Given the description of an element on the screen output the (x, y) to click on. 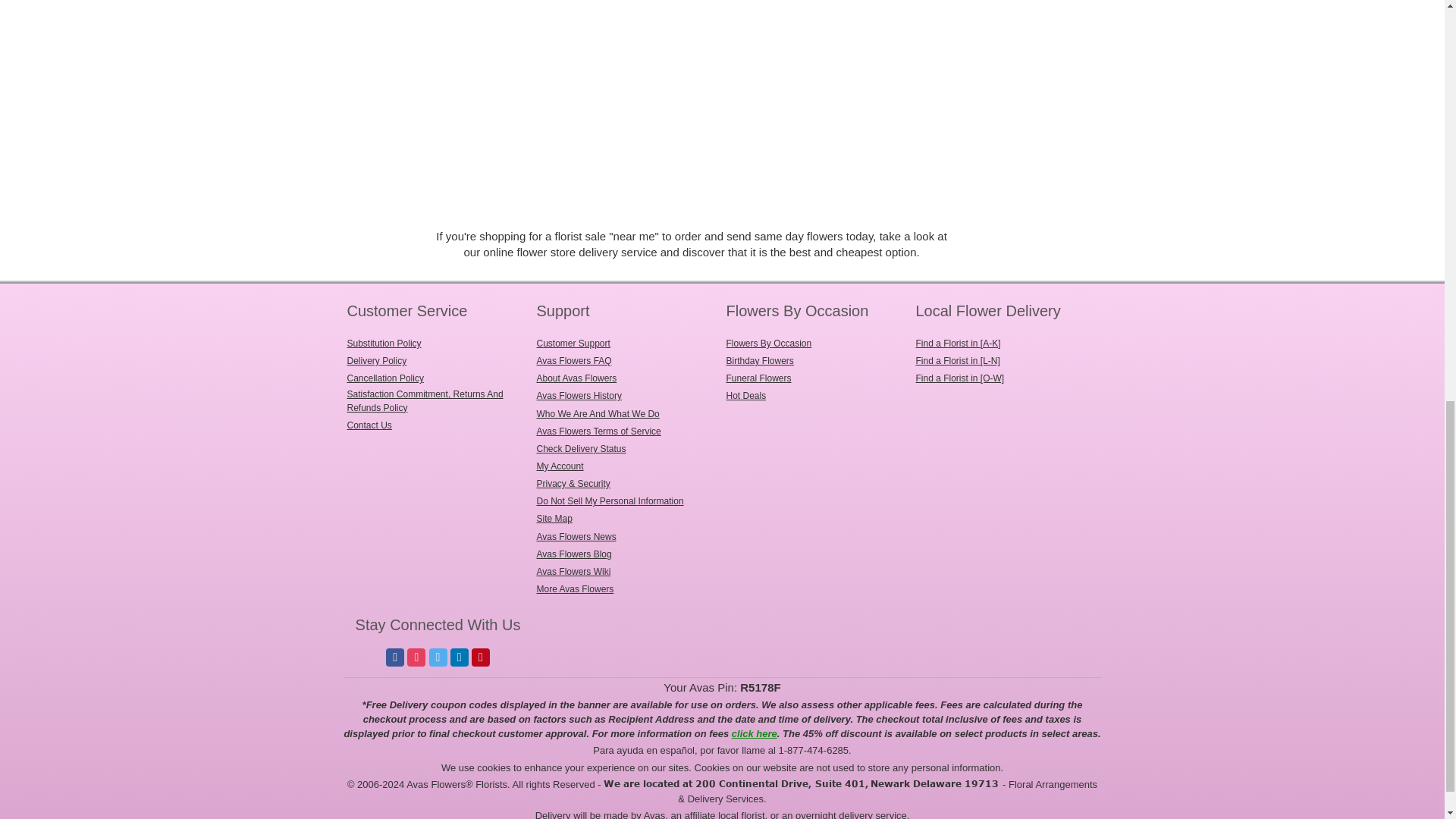
Virtual Florist - Avasflowers (656, 637)
